Given the description of an element on the screen output the (x, y) to click on. 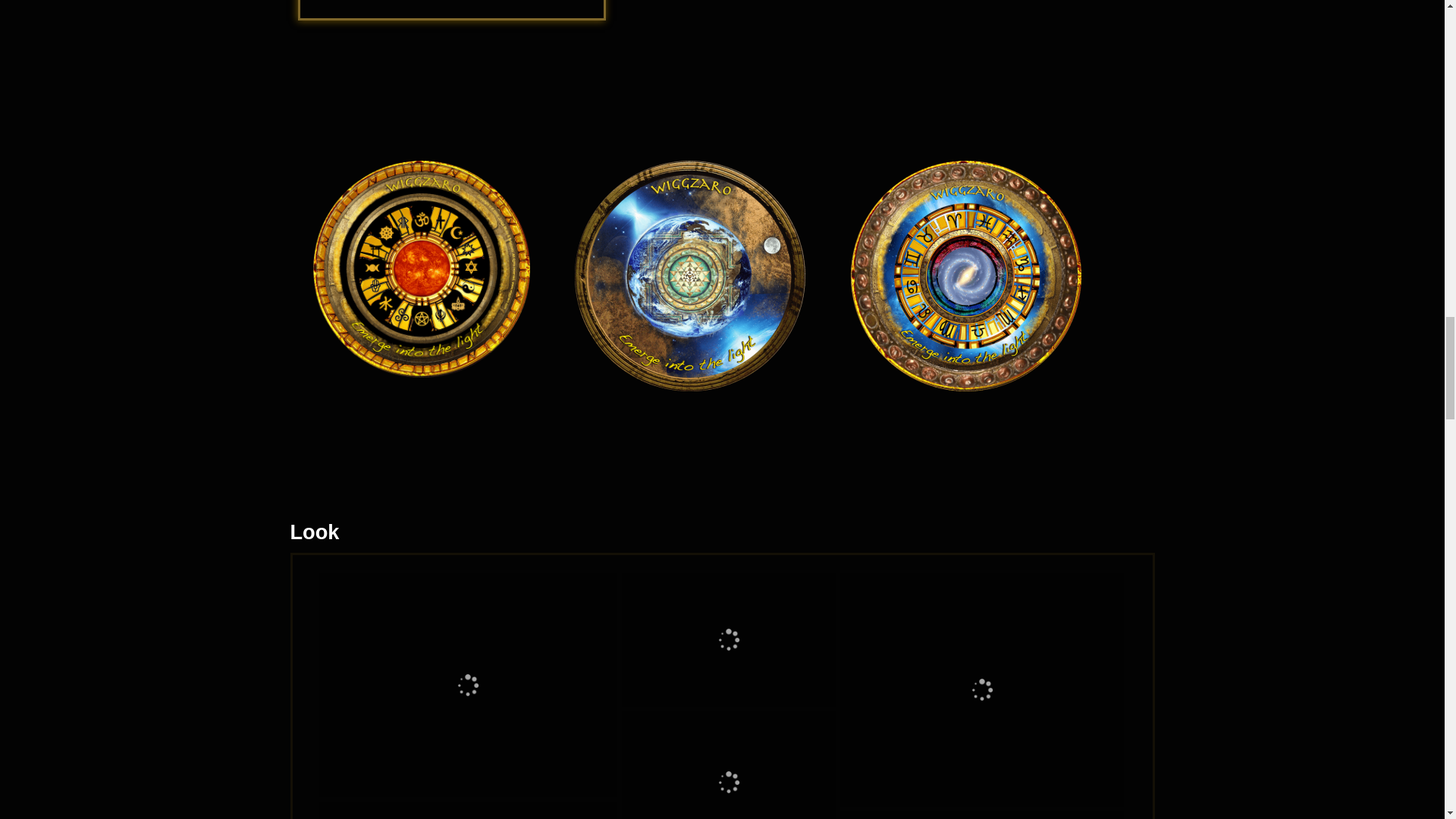
P1010394 crop tiny (728, 639)
Wiggzaro bigbang -topaz-denoise-sharpen sml tiny (728, 765)
P7280325-Agnsbaka-sml-tiny (466, 684)
